Given the description of an element on the screen output the (x, y) to click on. 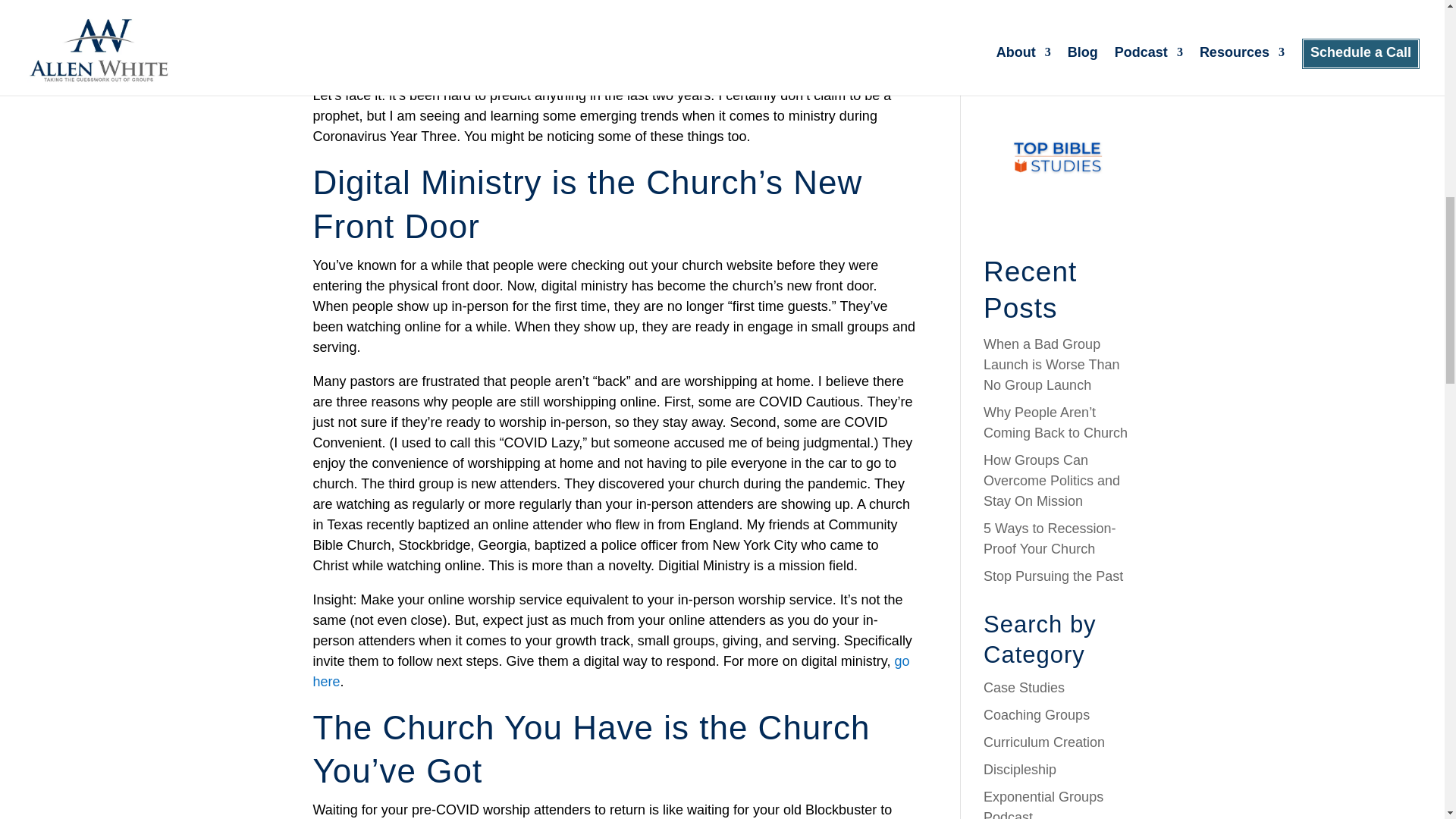
Posts by Allen White (353, 59)
